Given the description of an element on the screen output the (x, y) to click on. 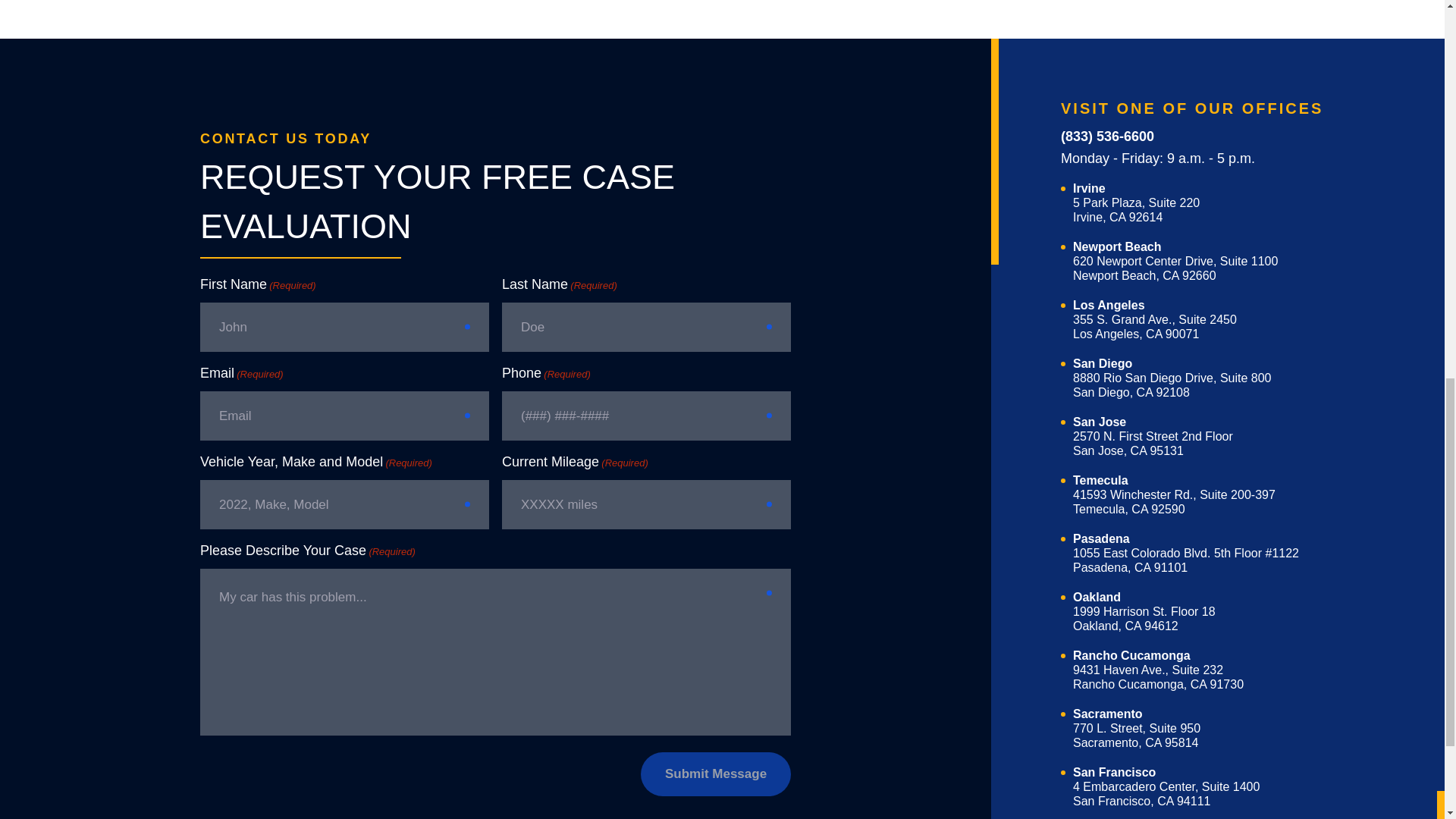
Submit Message (1136, 720)
Submit Message (1153, 428)
